Given the description of an element on the screen output the (x, y) to click on. 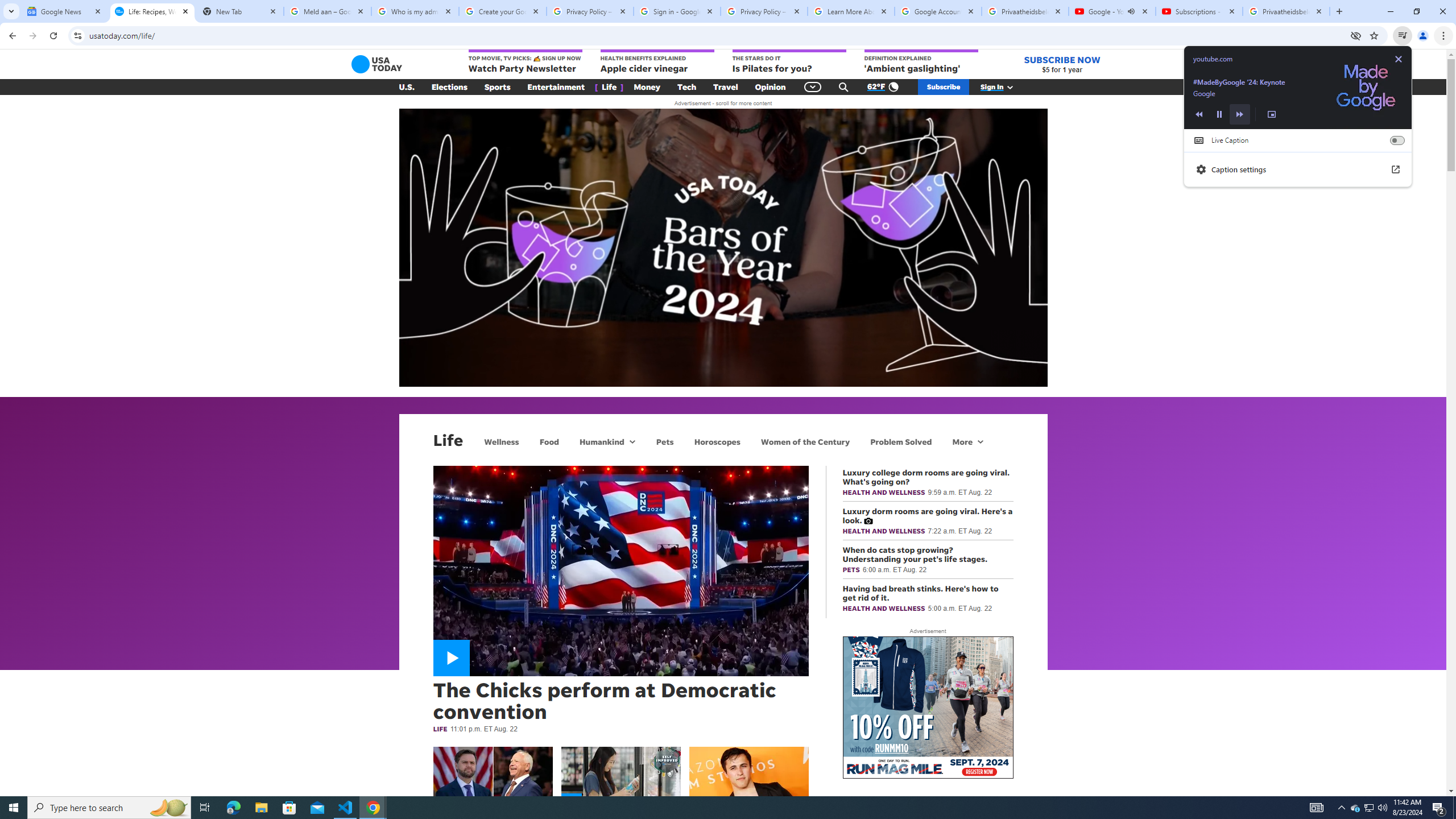
AutomationID: aw0 (928, 708)
Google - YouTube - Audio playing (1111, 11)
Humankind (600, 441)
Entertainment (556, 87)
Food (549, 441)
Mute tab (1130, 10)
Type here to search (108, 807)
Third-party cookies blocked (1355, 35)
Start (13, 807)
Global Navigation (812, 87)
